Given the description of an element on the screen output the (x, y) to click on. 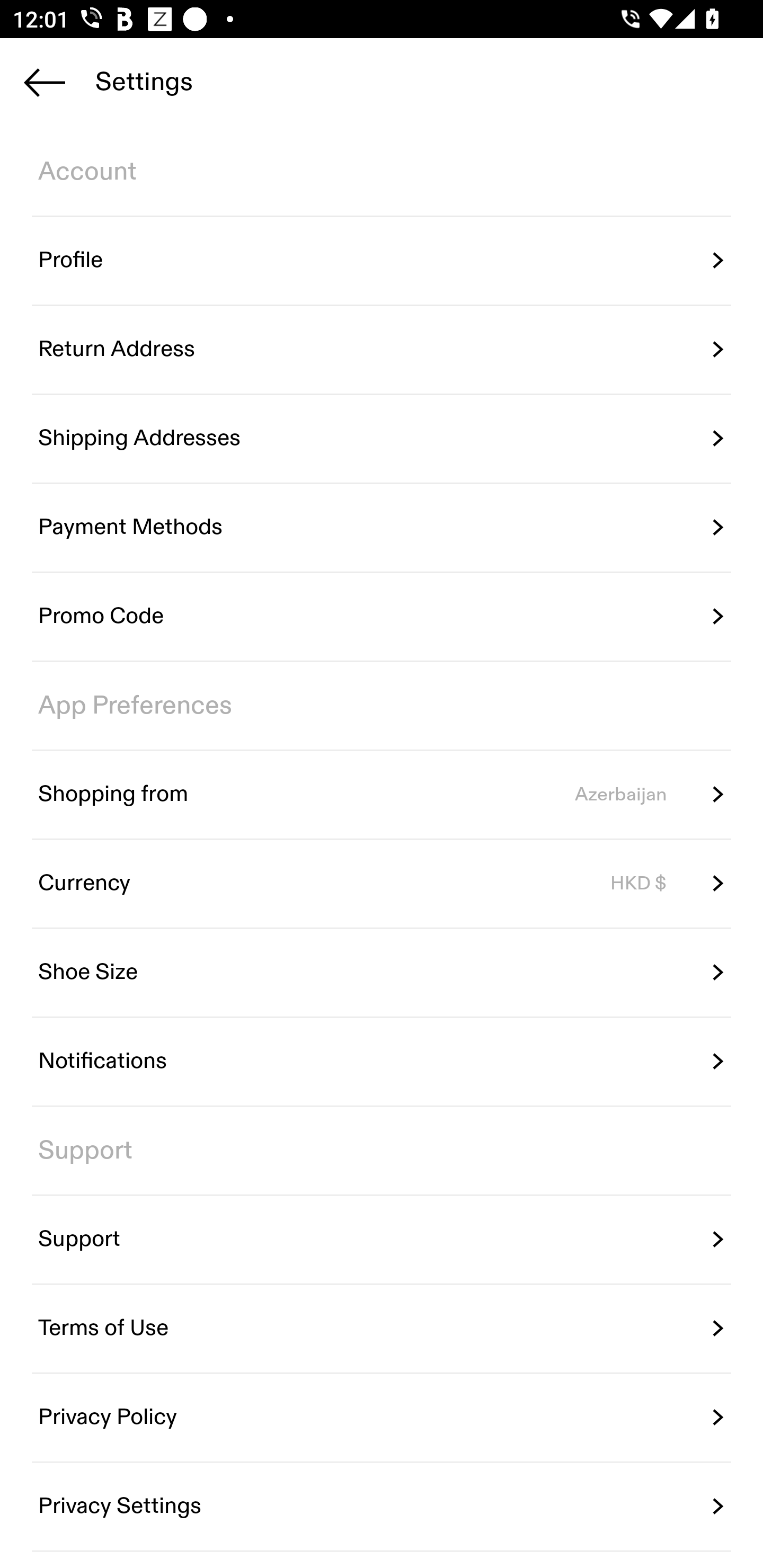
Navigate up (44, 82)
Profile (381, 260)
Return Address (381, 349)
Shipping Addresses (381, 437)
Payment Methods (381, 527)
Promo Code (381, 616)
Shopping from Azerbaijan (381, 793)
Currency HKD $ (381, 883)
Shoe Size (381, 972)
Notifications (381, 1061)
Support (381, 1239)
Terms of Use (381, 1328)
Privacy Policy (381, 1417)
Privacy Settings (381, 1505)
